Given the description of an element on the screen output the (x, y) to click on. 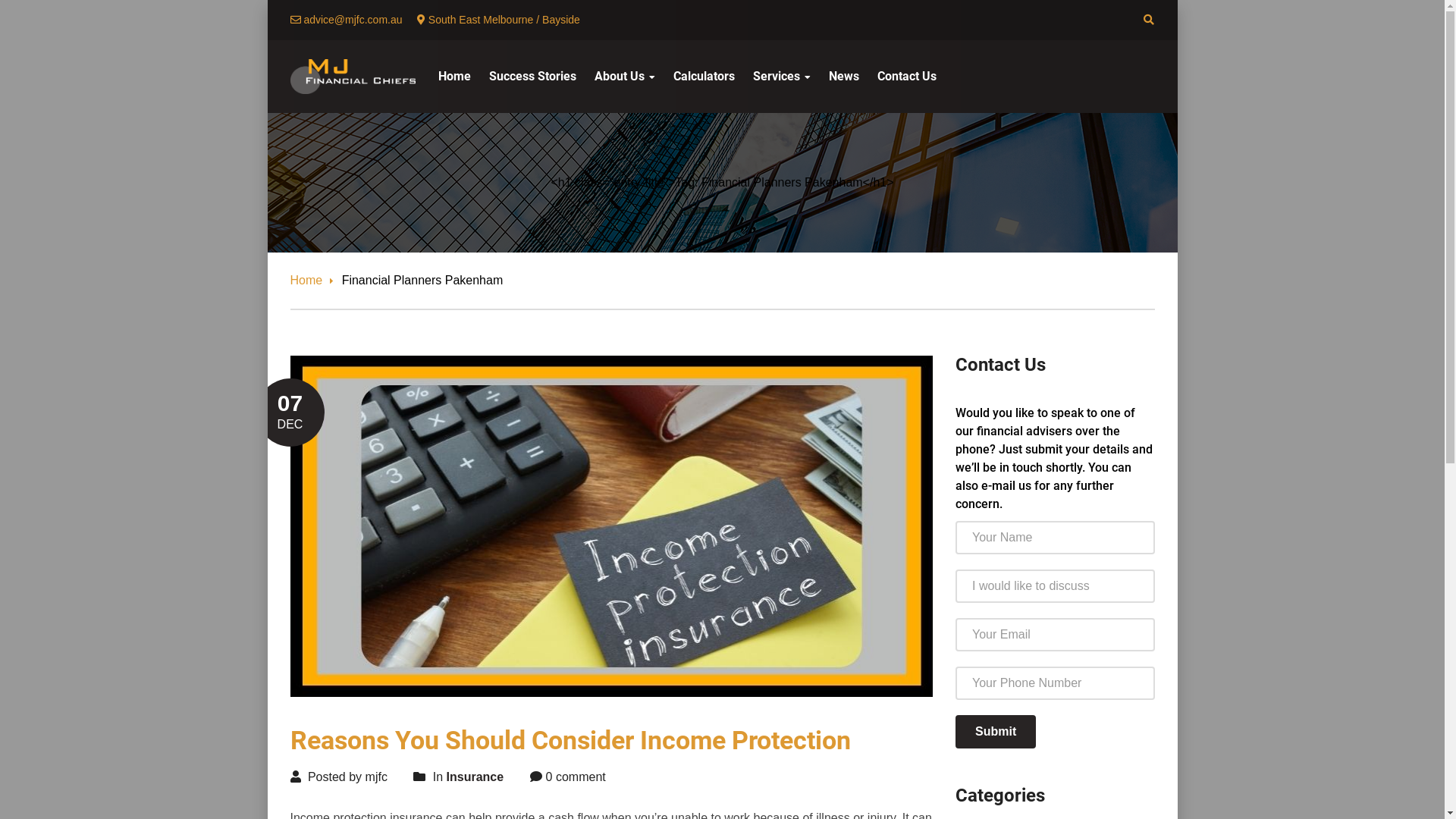
Insurance Element type: text (475, 776)
Home Element type: text (311, 279)
Services Element type: text (780, 76)
Contact Us Element type: text (905, 76)
Success Stories Element type: text (531, 76)
About Us Element type: text (624, 76)
Calculators Element type: text (703, 76)
News Element type: text (843, 76)
Submit Element type: text (995, 731)
Home Element type: text (454, 76)
Search Element type: text (174, 16)
Reasons You Should Consider Income Protection Element type: text (569, 739)
